Given the description of an element on the screen output the (x, y) to click on. 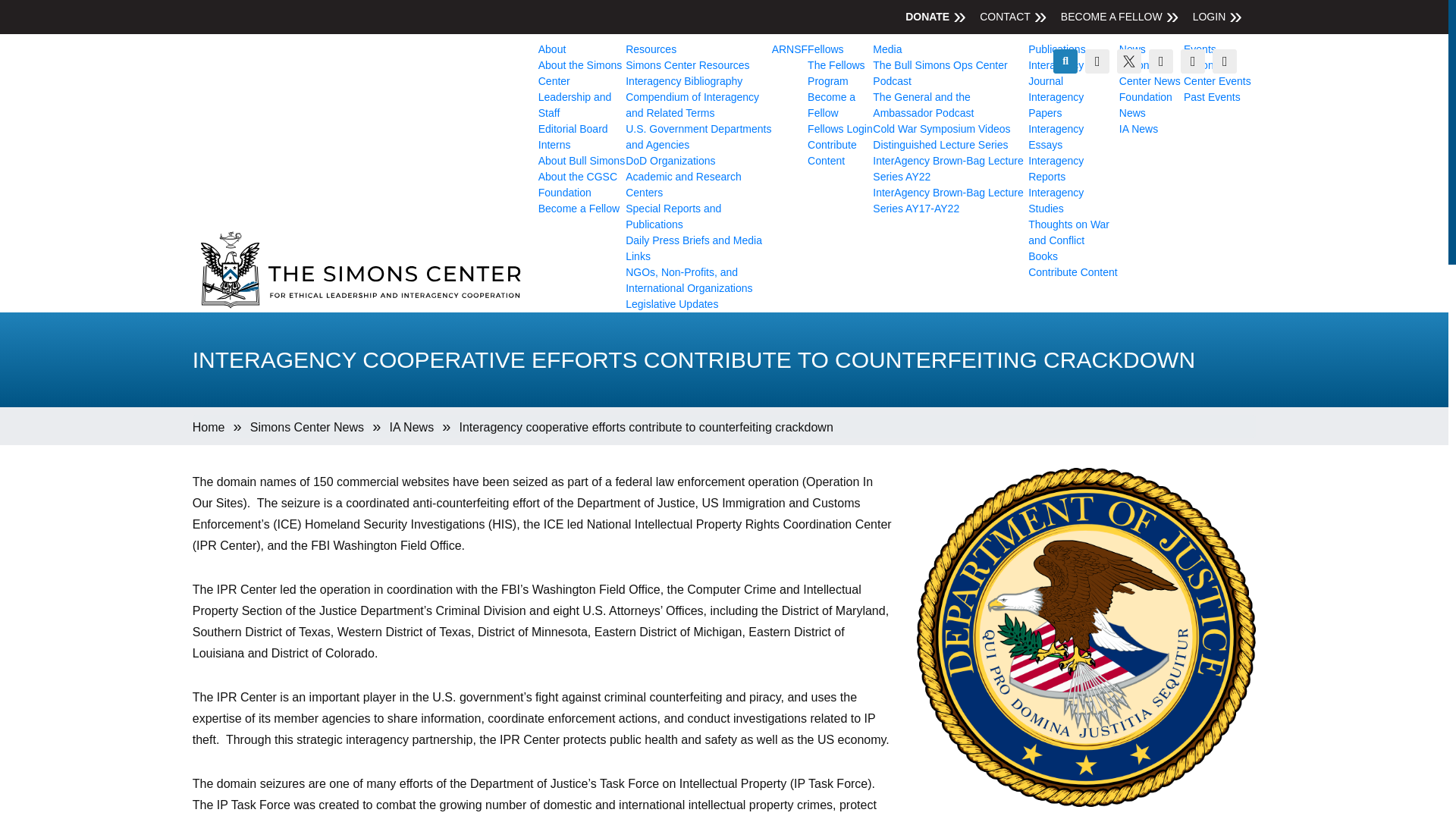
Go to The Simons Center. (208, 427)
About the Simons Center (580, 72)
DoD Organizations (670, 160)
Go to Simons Center News. (689, 280)
Compendium of Interagency and Related Terms (307, 427)
Legislative Updates (692, 104)
ARNSF (671, 304)
BECOME A FELLOW (789, 49)
Simons Center Resources (1111, 17)
